Given the description of an element on the screen output the (x, y) to click on. 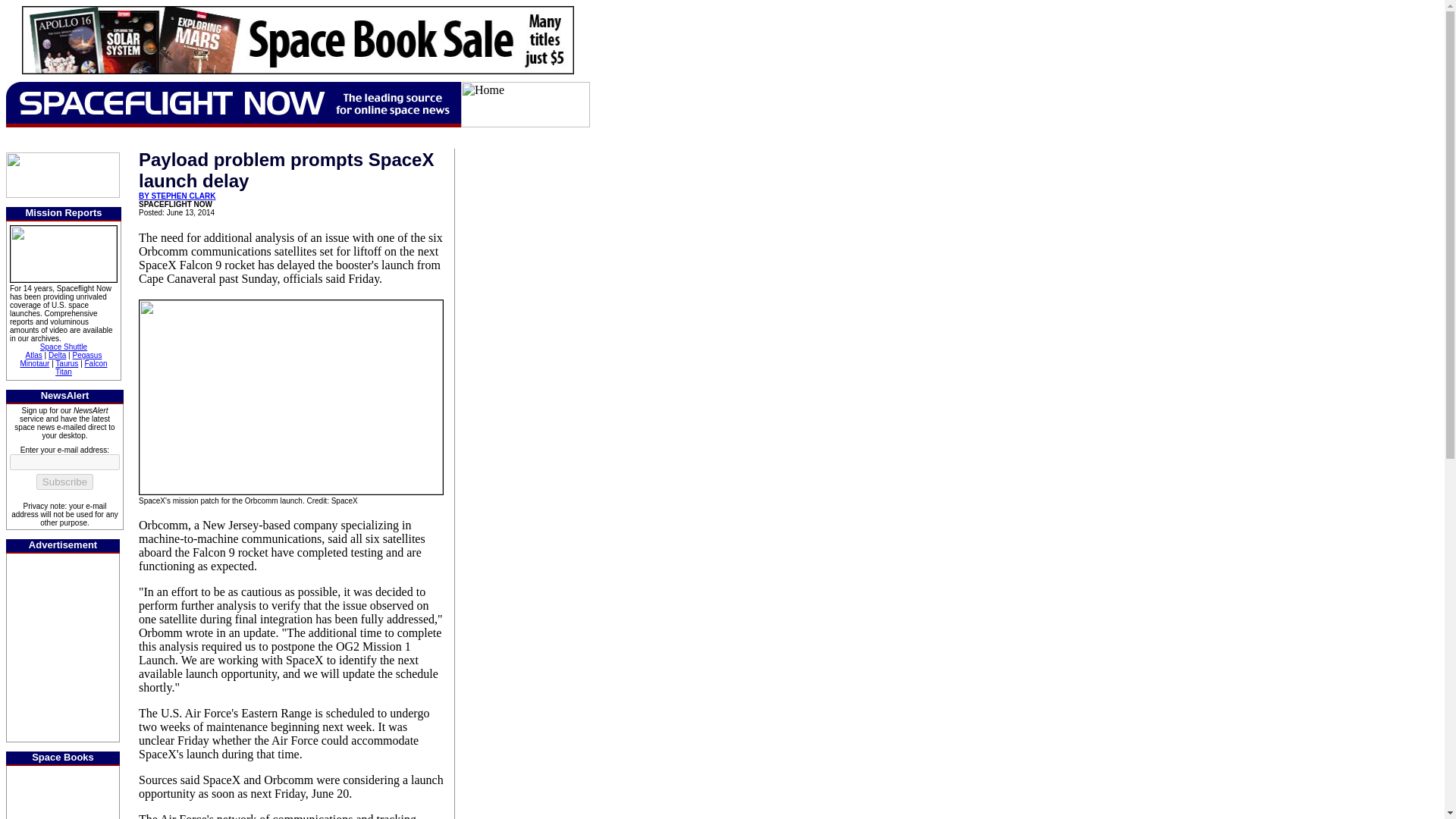
Titan (63, 371)
Delta (56, 355)
Space Shuttle (63, 347)
BY STEPHEN CLARK (176, 195)
Pegasus (86, 355)
Minotaur (34, 363)
Subscribe (64, 481)
Falcon (95, 363)
Taurus (66, 363)
Atlas (34, 355)
Subscribe (64, 481)
